Given the description of an element on the screen output the (x, y) to click on. 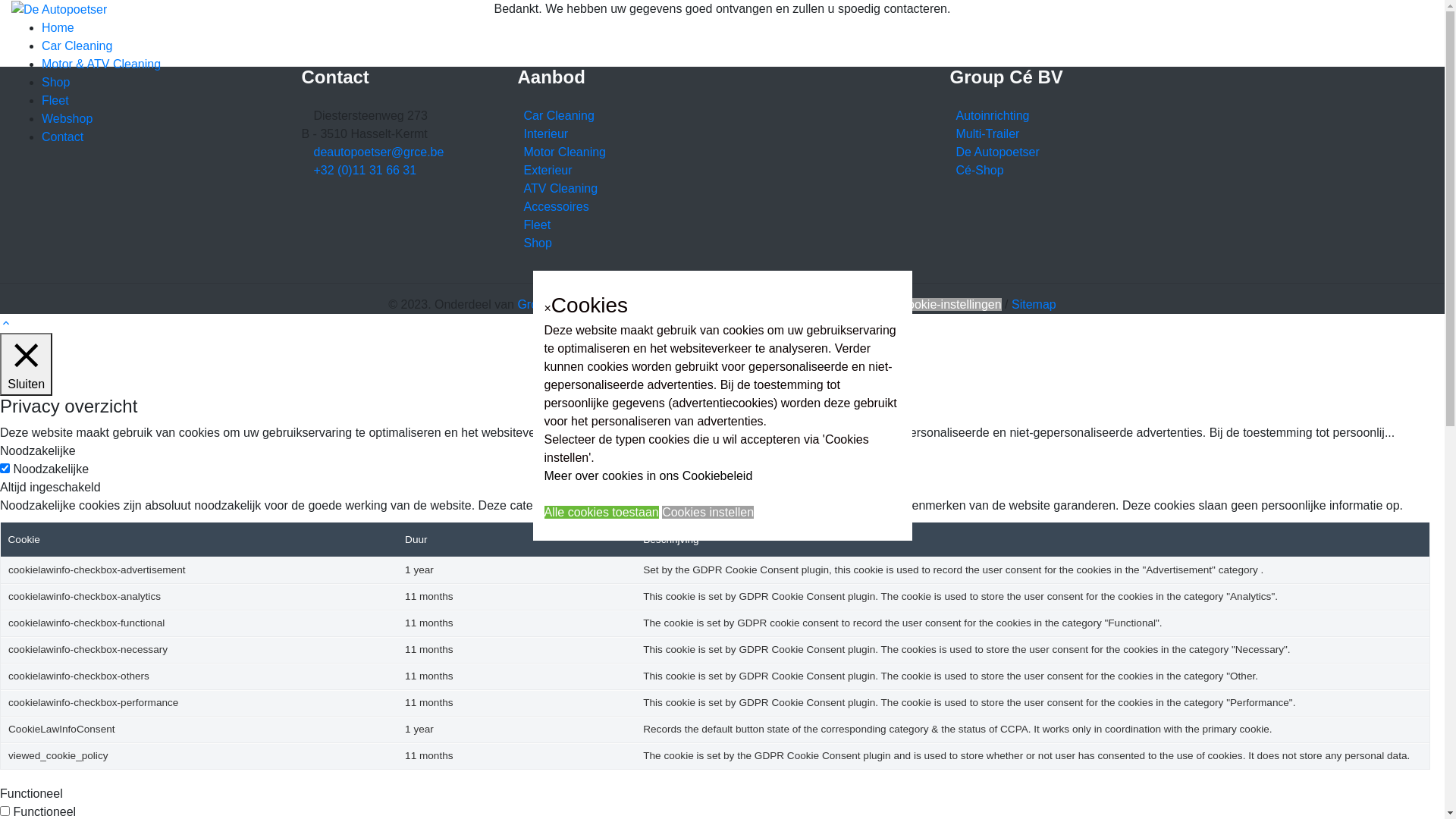
Noodzakelijke Element type: text (37, 450)
+32 (0)11 31 66 31 Element type: text (365, 169)
Alle cookies toestaan Element type: text (601, 511)
Motor Cleaning Element type: text (561, 151)
Website disclaimer & Privacybeleid Element type: text (693, 304)
Multi-Trailer Element type: text (984, 133)
Fleet Element type: text (55, 100)
Fleet Element type: text (533, 224)
Autoinrichting Element type: text (989, 115)
Cookies instellen Element type: text (707, 511)
deautopoetser@grce.be Element type: text (378, 151)
Home Element type: text (57, 27)
Functioneel Element type: text (31, 793)
Interieur Element type: text (542, 133)
Cookie-instellingen Element type: text (949, 304)
Accessoires Element type: text (552, 206)
Shop Element type: text (55, 81)
Shop Element type: text (534, 242)
Contact Element type: text (62, 136)
ATV Cleaning Element type: text (557, 188)
Car Cleaning Element type: text (555, 115)
Car Cleaning Element type: text (76, 45)
Webshop Element type: text (66, 118)
De Autopoetser Element type: text (993, 151)
Exterieur Element type: text (544, 169)
Sitemap Element type: text (1033, 304)
Motor & ATV Cleaning Element type: text (100, 63)
Cookieverklaring Element type: text (843, 304)
Sluiten Element type: text (26, 363)
Meer over cookies in ons Cookiebeleid Element type: text (648, 475)
